Given the description of an element on the screen output the (x, y) to click on. 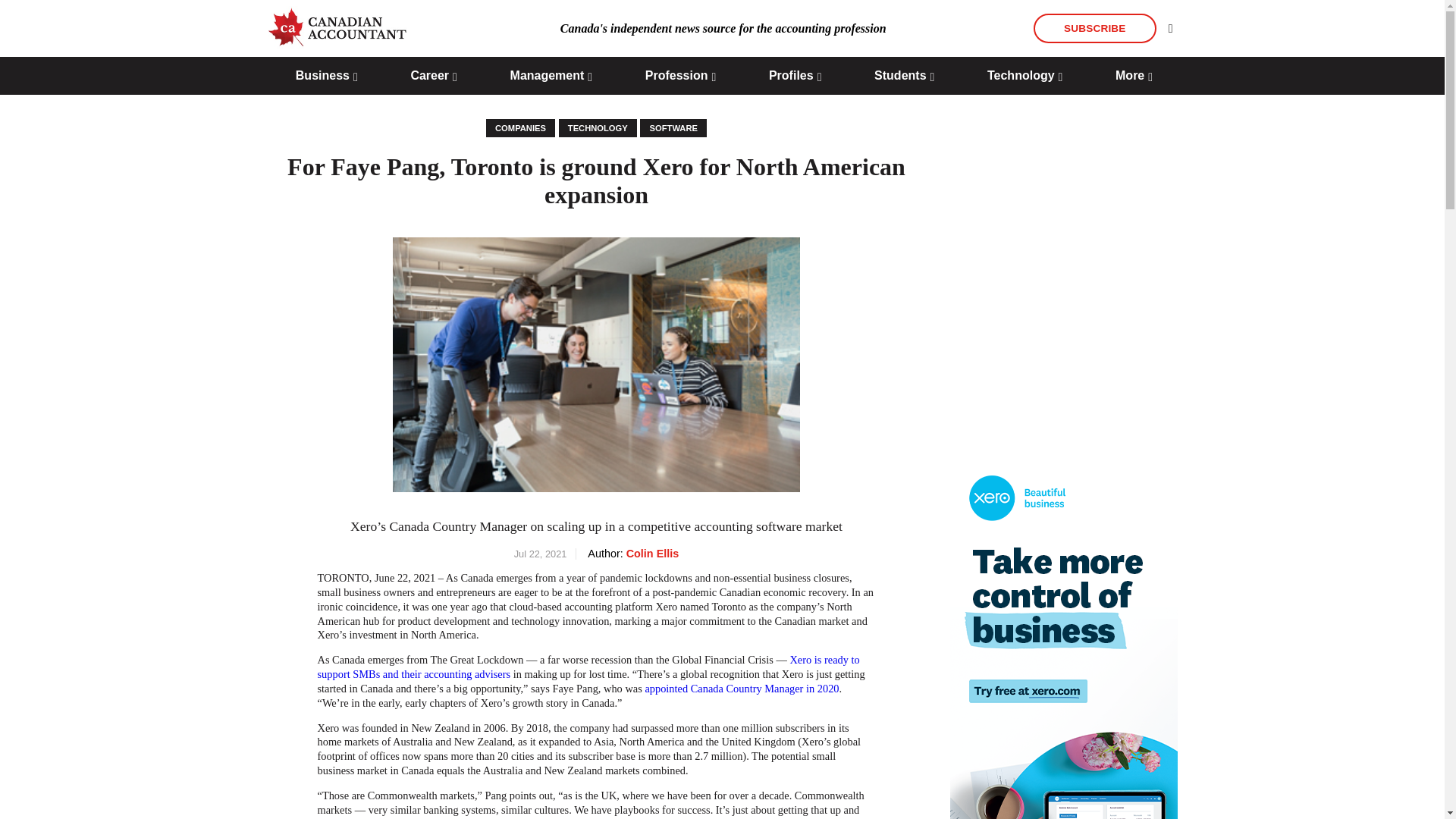
Software (673, 127)
Companies (520, 127)
Colin Ellis (652, 553)
Subscribe (1094, 28)
Profiles (795, 75)
Management (551, 75)
Business (326, 75)
SUBSCRIBE (1094, 28)
Xero Canada 2024 (1062, 635)
Technology (598, 127)
Profession (680, 75)
Career (433, 75)
